Given the description of an element on the screen output the (x, y) to click on. 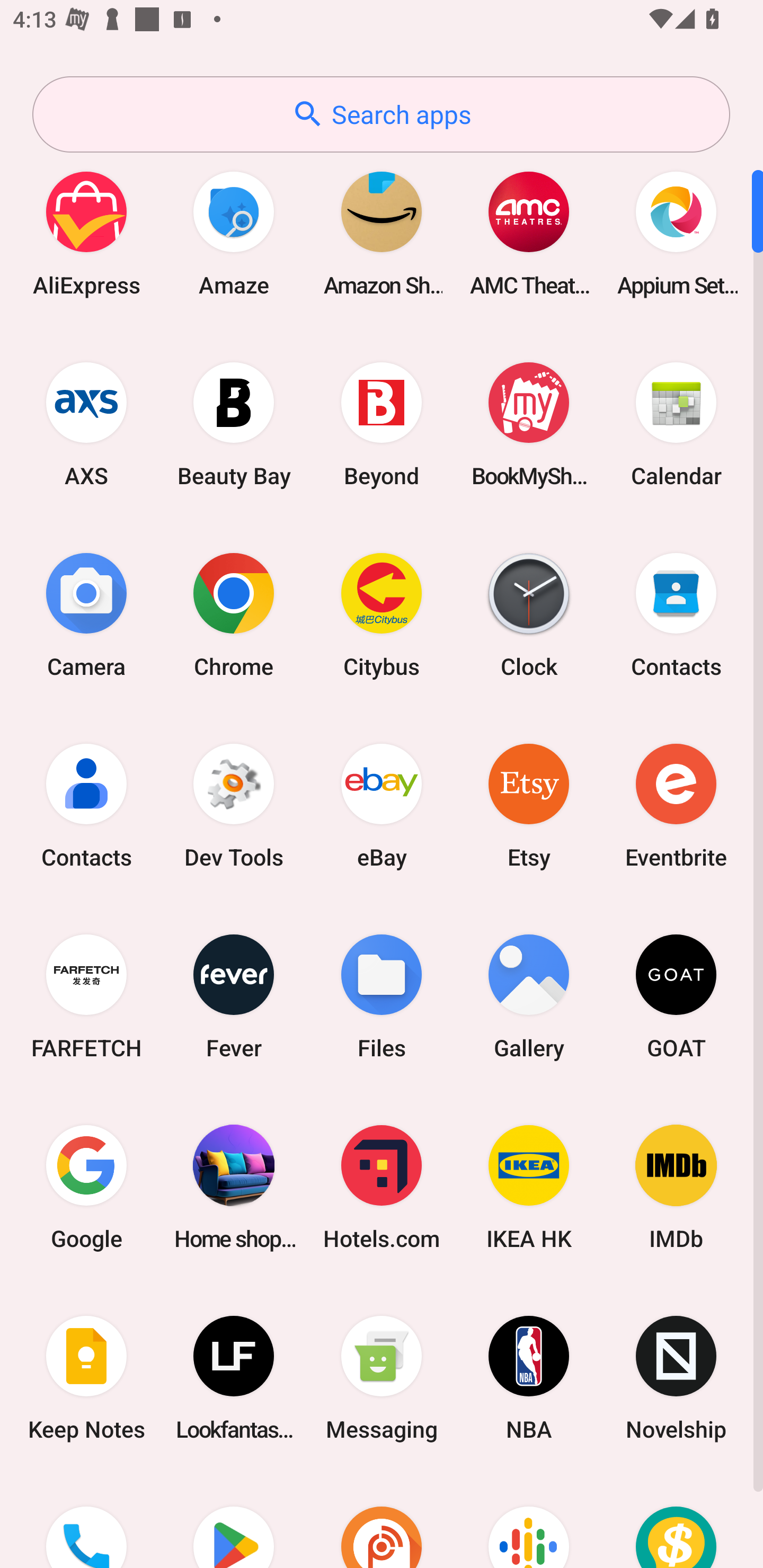
  Search apps (381, 114)
AliExpress (86, 233)
Amaze (233, 233)
Amazon Shopping (381, 233)
AMC Theatres (528, 233)
Appium Settings (676, 233)
AXS (86, 424)
Beauty Bay (233, 424)
Beyond (381, 424)
BookMyShow (528, 424)
Calendar (676, 424)
Camera (86, 614)
Chrome (233, 614)
Citybus (381, 614)
Clock (528, 614)
Contacts (676, 614)
Contacts (86, 805)
Dev Tools (233, 805)
eBay (381, 805)
Etsy (528, 805)
Eventbrite (676, 805)
FARFETCH (86, 996)
Fever (233, 996)
Files (381, 996)
Gallery (528, 996)
GOAT (676, 996)
Google (86, 1186)
Home shopping (233, 1186)
Hotels.com (381, 1186)
IKEA HK (528, 1186)
IMDb (676, 1186)
Keep Notes (86, 1377)
Lookfantastic (233, 1377)
Messaging (381, 1377)
NBA (528, 1377)
Novelship (676, 1377)
Phone (86, 1520)
Play Store (233, 1520)
Podcast Addict (381, 1520)
Podcasts (528, 1520)
Price (676, 1520)
